Given the description of an element on the screen output the (x, y) to click on. 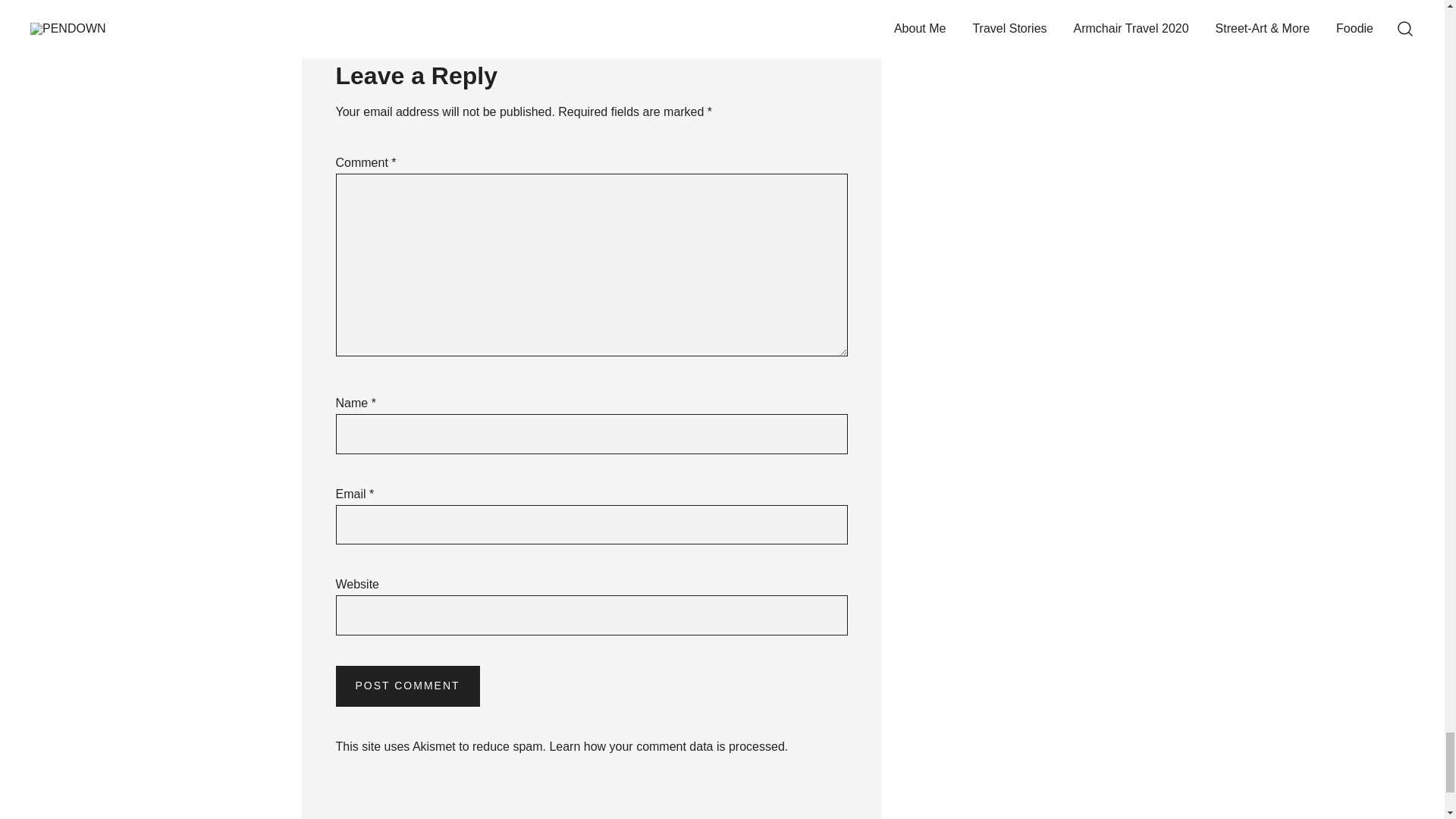
Post Comment (406, 685)
